Given the description of an element on the screen output the (x, y) to click on. 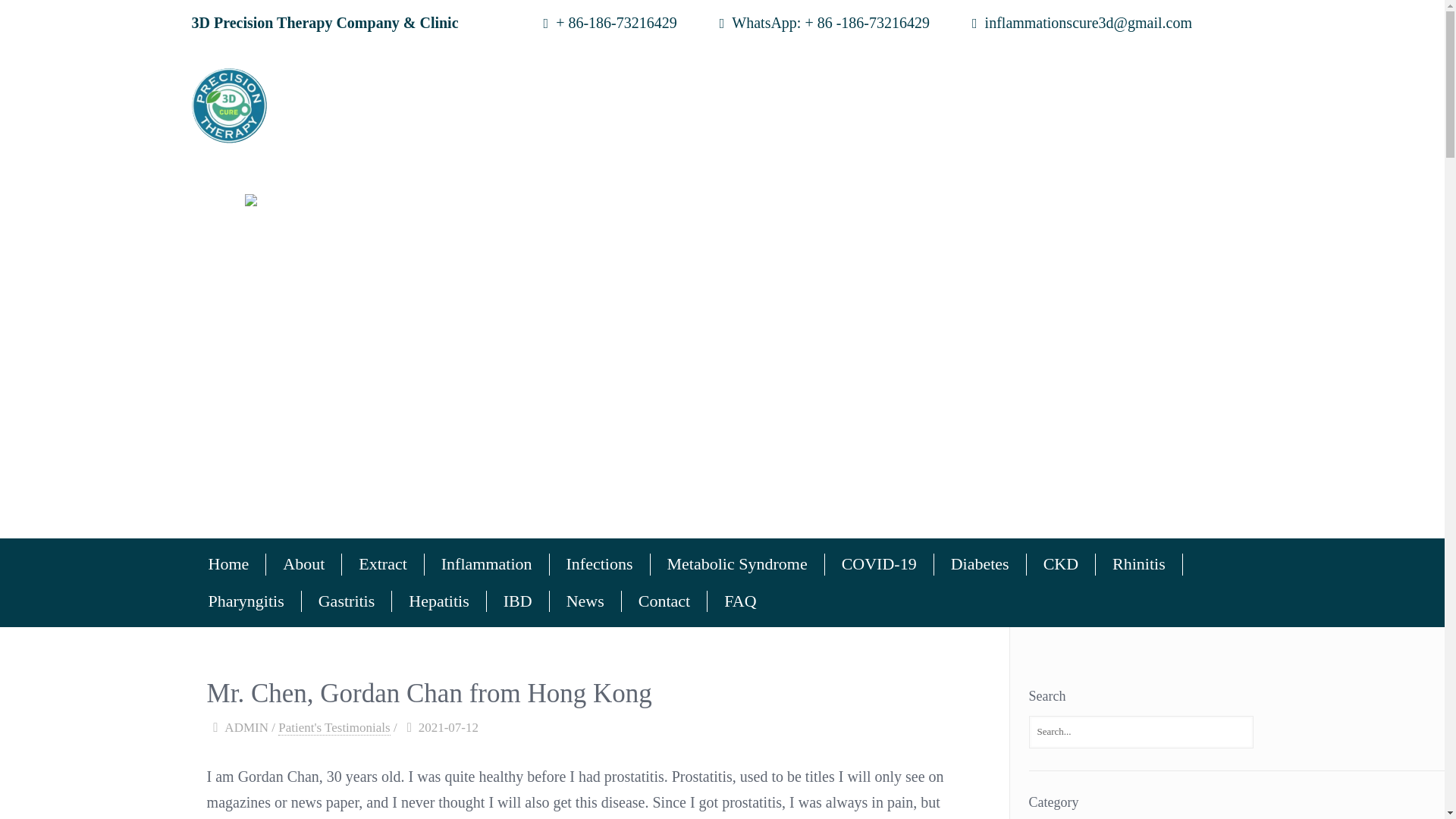
About (304, 564)
Search (35, 20)
Patient's Testimonials (334, 727)
Infections (600, 564)
FAQ (740, 601)
COVID-19 (879, 564)
Contact (664, 601)
Rhinitis (1139, 564)
Metabolic Syndrome (737, 564)
Hepatitis (438, 601)
